Given the description of an element on the screen output the (x, y) to click on. 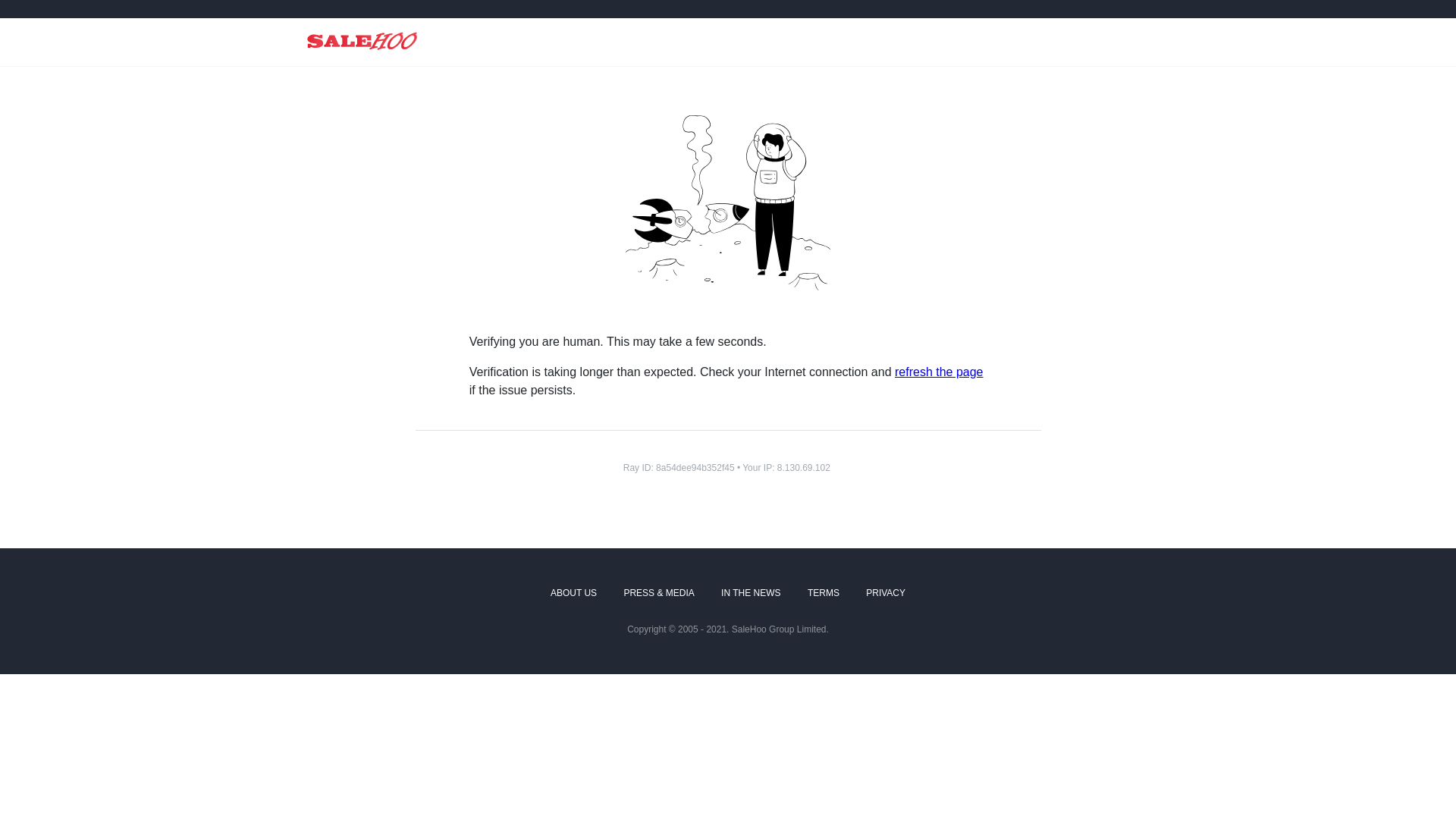
ABOUT US (573, 593)
IN THE NEWS (750, 593)
refresh the page (939, 371)
TERMS (824, 593)
PRIVACY (885, 593)
